Given the description of an element on the screen output the (x, y) to click on. 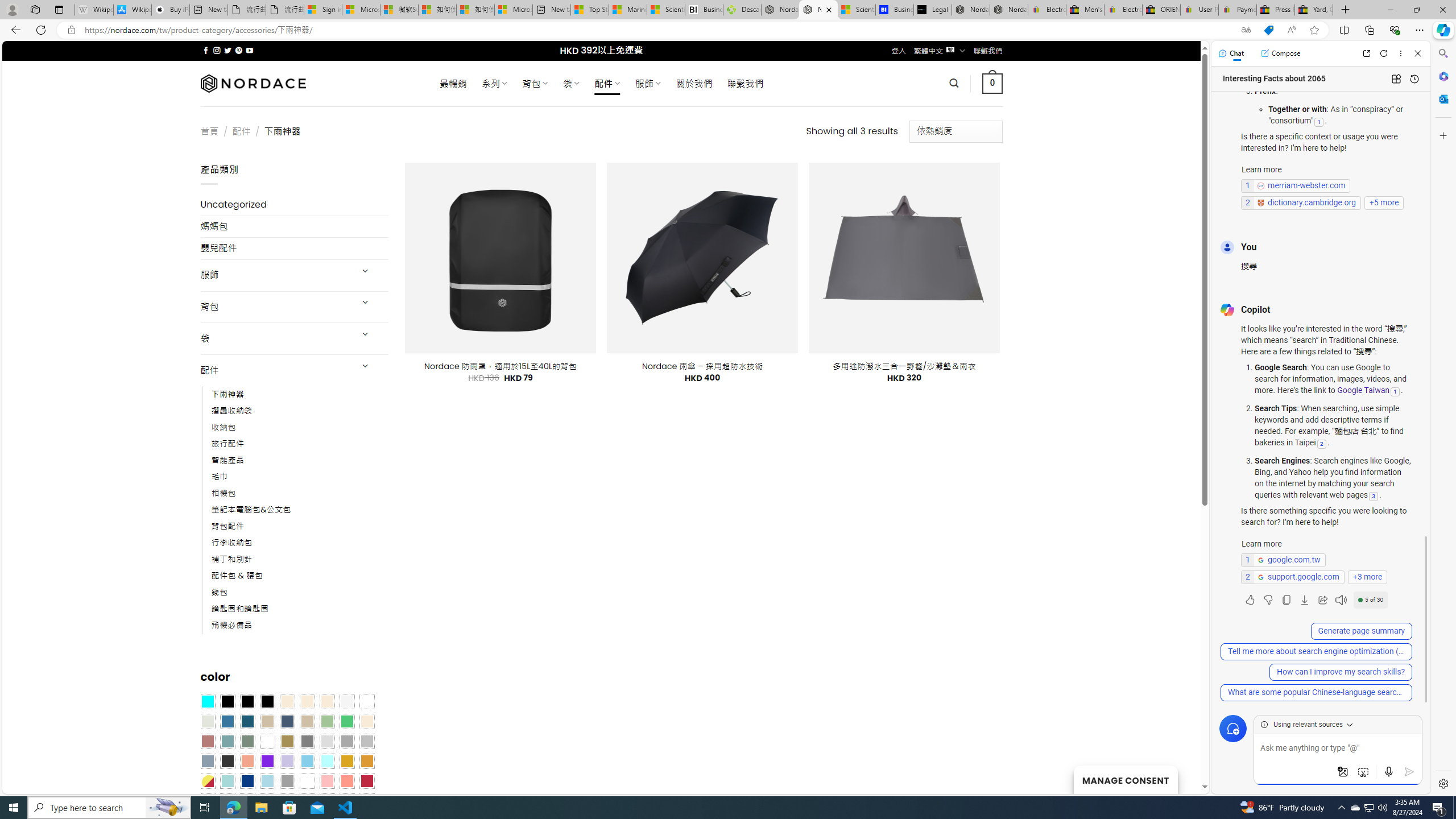
Descarga Driver Updater (741, 9)
Sign in to your Microsoft account (322, 9)
Yard, Garden & Outdoor Living (1314, 9)
